Given the description of an element on the screen output the (x, y) to click on. 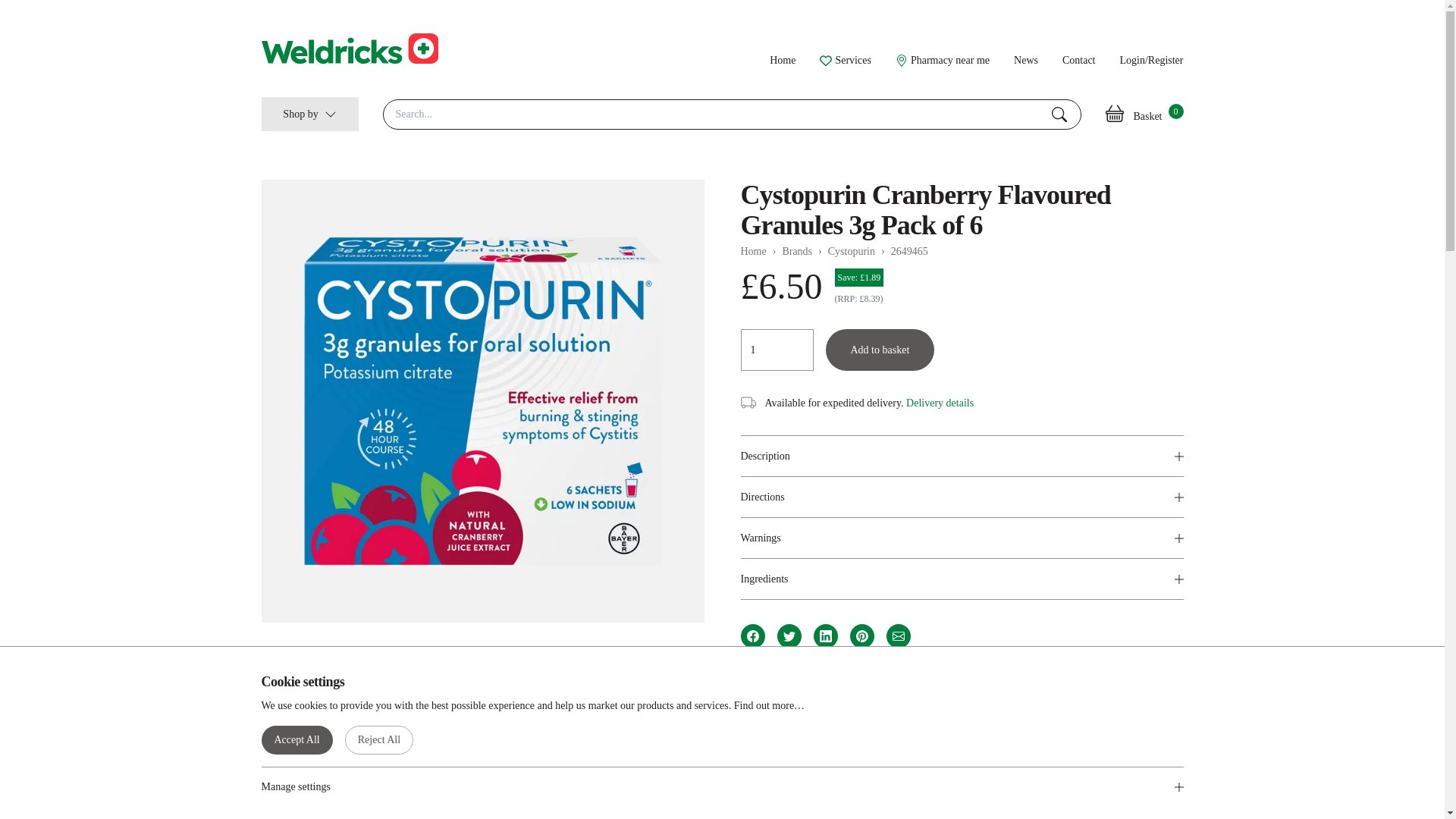
Pharmacy near me (942, 59)
Share on Twitter (788, 636)
Contact (1079, 60)
Home (782, 60)
Share on Facebook (751, 636)
Services (844, 59)
Share on LinkedIn (824, 636)
1 (775, 350)
Pin to Pinterest (860, 636)
Share by Email (897, 636)
News (1025, 60)
Shop by (309, 114)
